Given the description of an element on the screen output the (x, y) to click on. 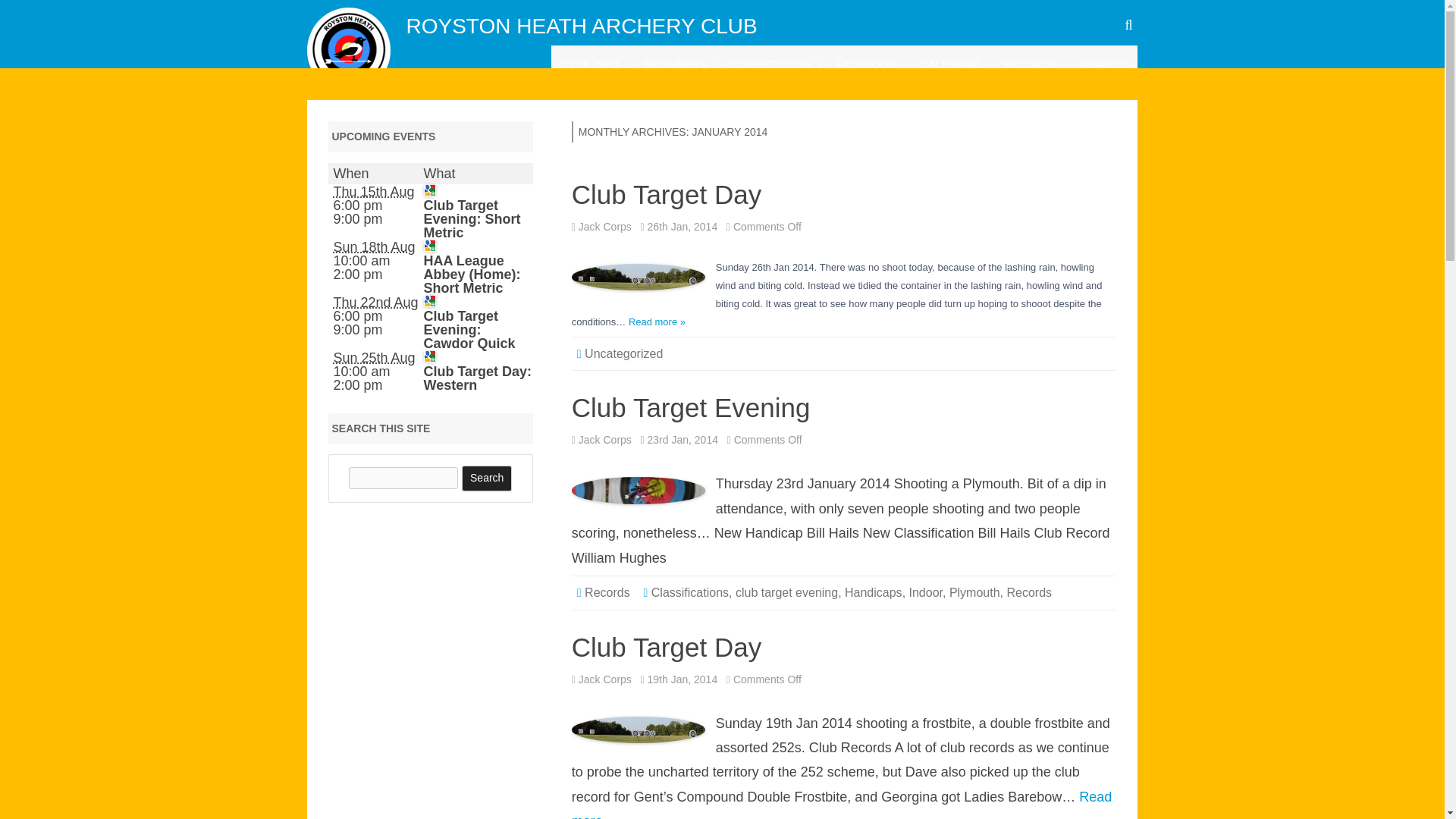
CLUB INFO (590, 65)
Contact information (637, 100)
CONTACT US (637, 100)
Royston Heath Archery Club (581, 26)
ROYSTON HEATH ARCHERY CLUB (581, 26)
Search (486, 478)
Home Page (590, 65)
